Given the description of an element on the screen output the (x, y) to click on. 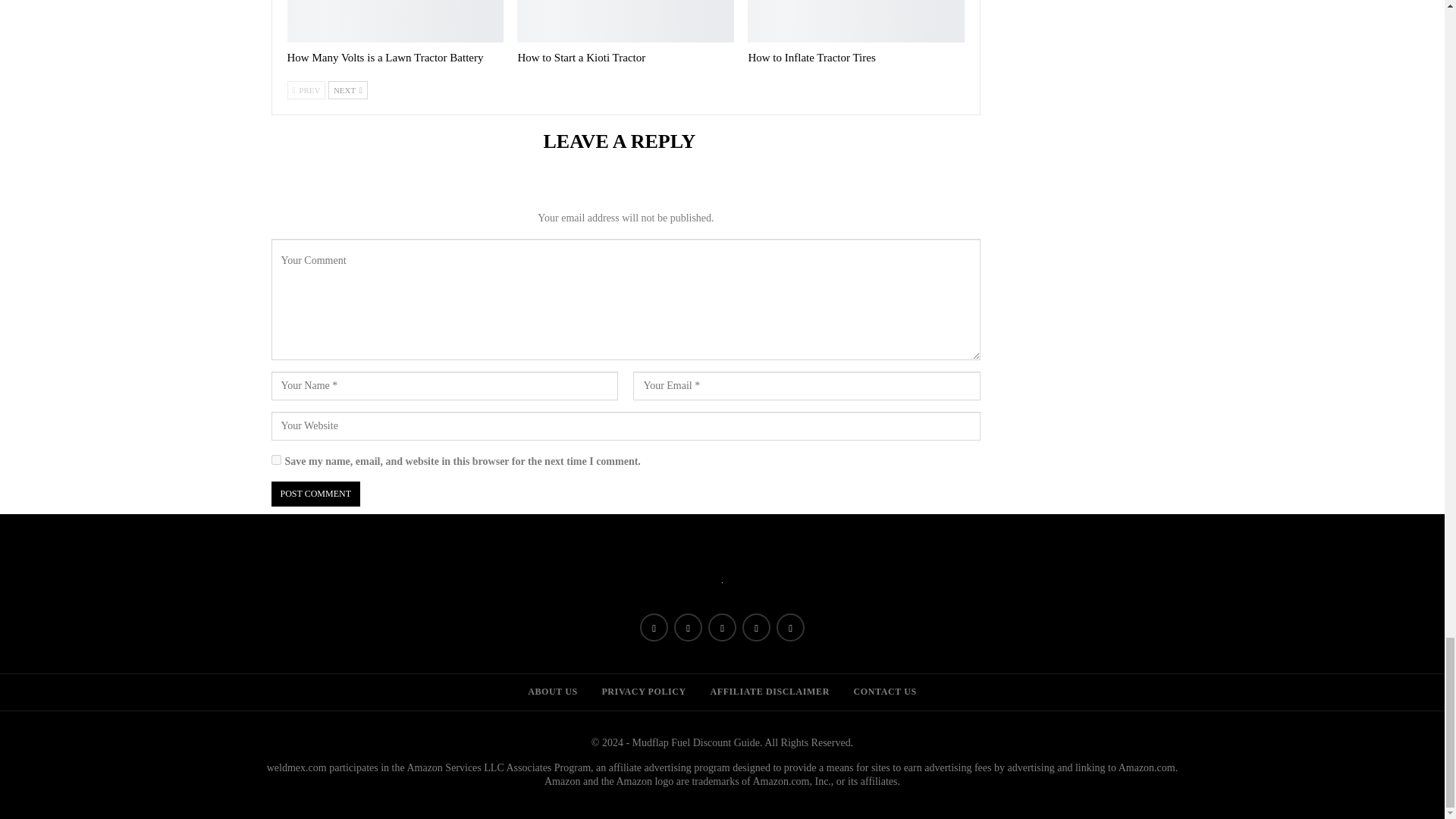
yes (275, 460)
How to Inflate Tractor Tires (811, 57)
Post Comment (314, 493)
Previous (305, 90)
How to Start a Kioti Tractor (624, 21)
How to Inflate Tractor Tires (855, 21)
How to Start a Kioti Tractor (580, 57)
How Many Volts is a Lawn Tractor Battery (394, 21)
How Many Volts is a Lawn Tractor Battery (384, 57)
